Given the description of an element on the screen output the (x, y) to click on. 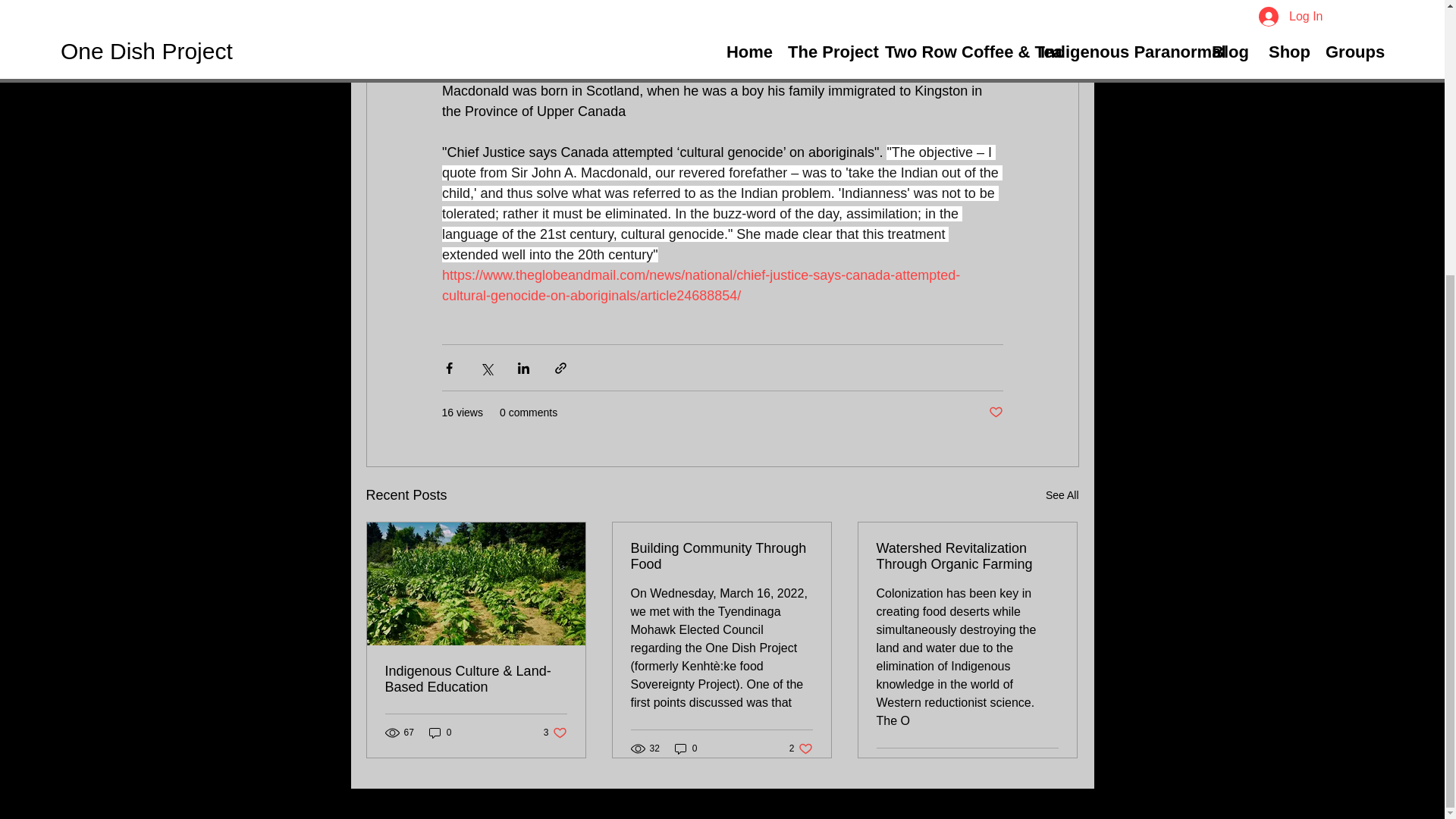
See All (555, 732)
0 (800, 748)
Post not marked as liked (1061, 495)
Building Community Through Food (685, 748)
Watershed Revitalization Through Organic Farming (995, 412)
0 (721, 556)
